Given the description of an element on the screen output the (x, y) to click on. 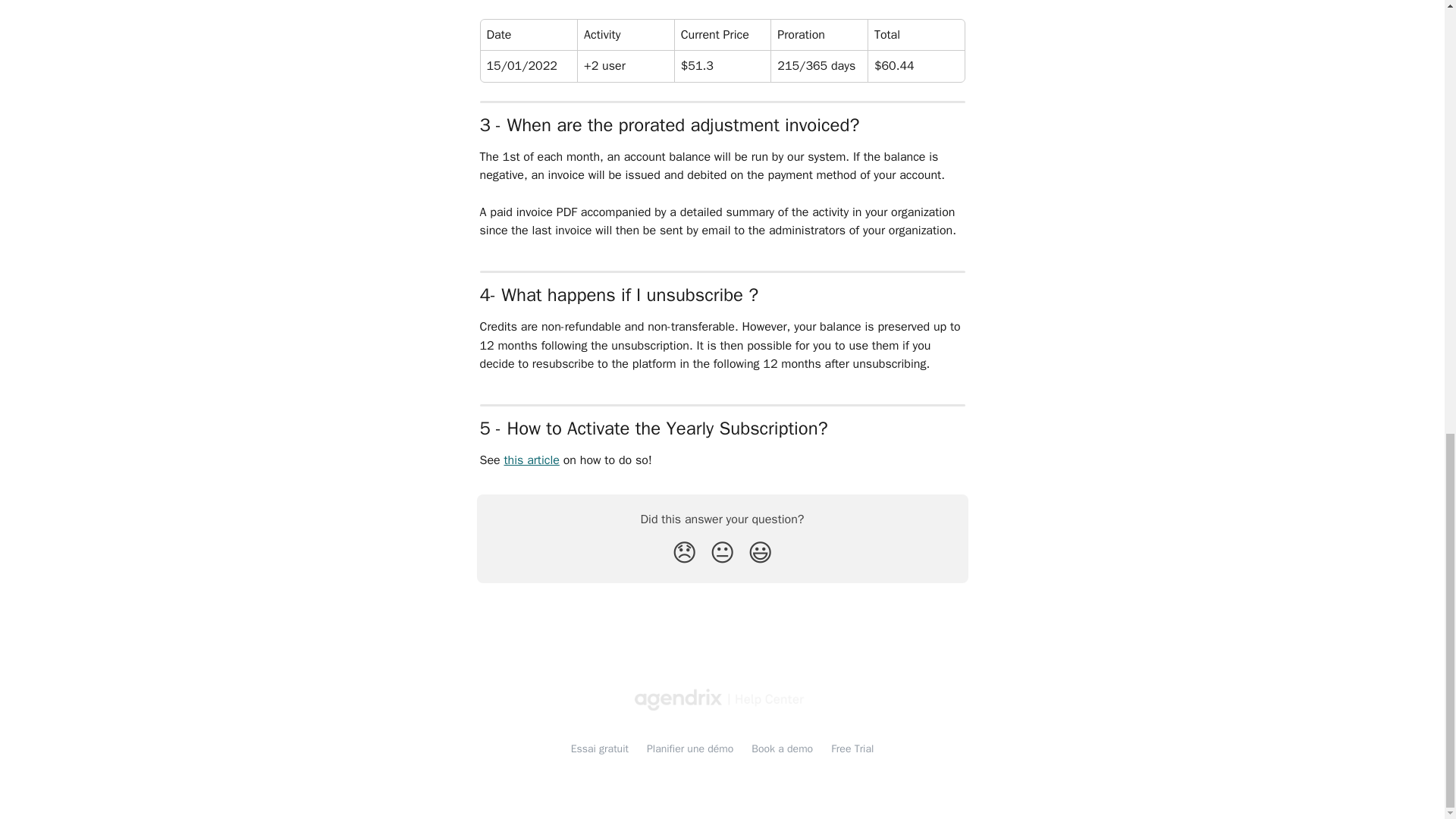
Free Trial (852, 748)
Essai gratuit (599, 748)
Smiley (760, 552)
Disappointed (684, 552)
Neutral (722, 552)
Book a demo (781, 748)
this article (531, 459)
